Given the description of an element on the screen output the (x, y) to click on. 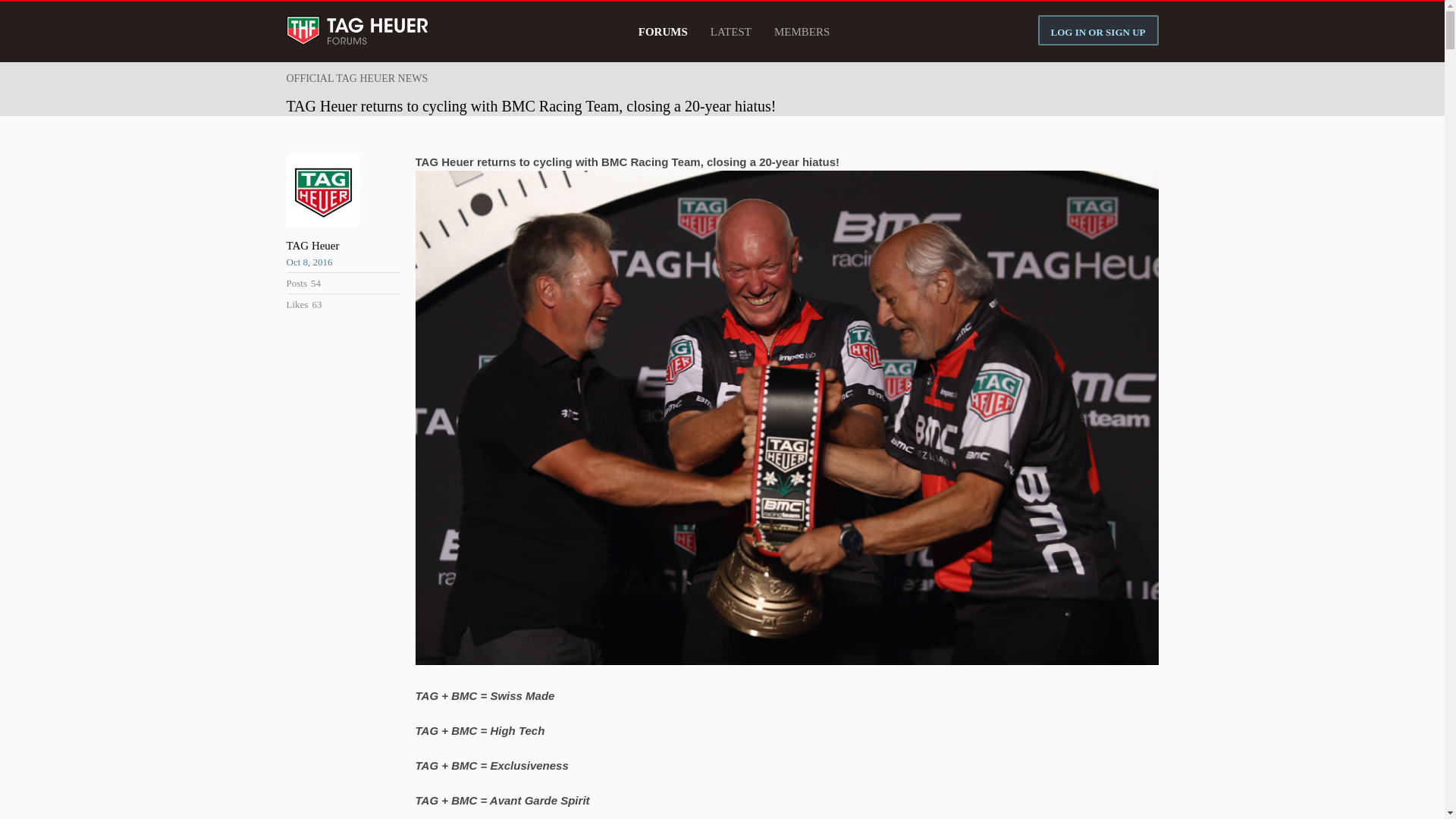
TAG Heuer (343, 245)
LOG IN OR SIGN UP (1098, 30)
Oct 8, 2016 6:54pm (343, 261)
TAG Heuer Forums (358, 31)
FORUMS (662, 29)
OFFICIAL TAG HEUER NEWS (364, 78)
MEMBERS (801, 29)
TAG Heuer Forums (358, 31)
LATEST (730, 29)
